Given the description of an element on the screen output the (x, y) to click on. 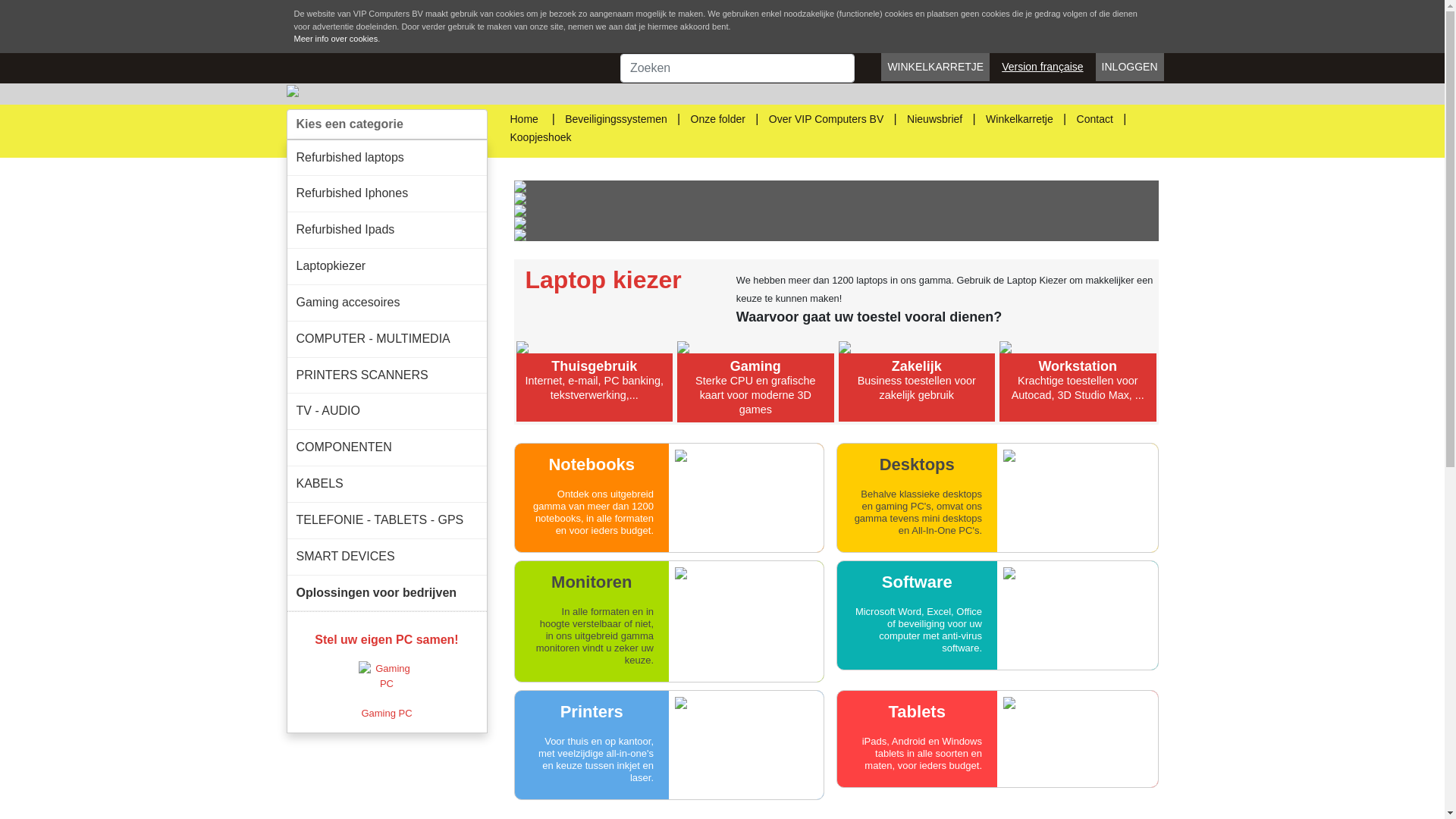
Beveiligingssystemen Element type: text (615, 118)
TELEFONIE - TABLETS - GPS Element type: text (386, 520)
Gaming PC Element type: text (386, 689)
Gaming
Sterke CPU en grafische kaart voor moderne 3D games Element type: text (755, 381)
COMPUTER - MULTIMEDIA Element type: text (386, 339)
Kies een categorie Element type: text (386, 124)
Home Element type: text (523, 118)
Onze folder Element type: text (717, 118)
Meer info over cookies Element type: text (336, 38)
Over VIP Computers BV Element type: text (825, 118)
Winkelkarretje Element type: text (1019, 118)
Nieuwsbrief Element type: text (934, 118)
Refurbished laptops Element type: text (386, 157)
Koopjeshoek Element type: text (540, 136)
Laptopkiezer Element type: text (386, 266)
SMART DEVICES Element type: text (386, 556)
KABELS Element type: text (386, 484)
TV - AUDIO Element type: text (386, 411)
Contact Element type: text (1094, 118)
Oplossingen voor bedrijven Element type: text (386, 593)
PRINTERS SCANNERS Element type: text (386, 375)
Zakelijk
Business toestellen voor zakelijk gebruik Element type: text (916, 381)
Gaming accesoires Element type: text (386, 302)
Refurbished Iphones Element type: text (386, 193)
Refurbished Ipads Element type: text (386, 229)
COMPONENTEN Element type: text (386, 447)
